Given the description of an element on the screen output the (x, y) to click on. 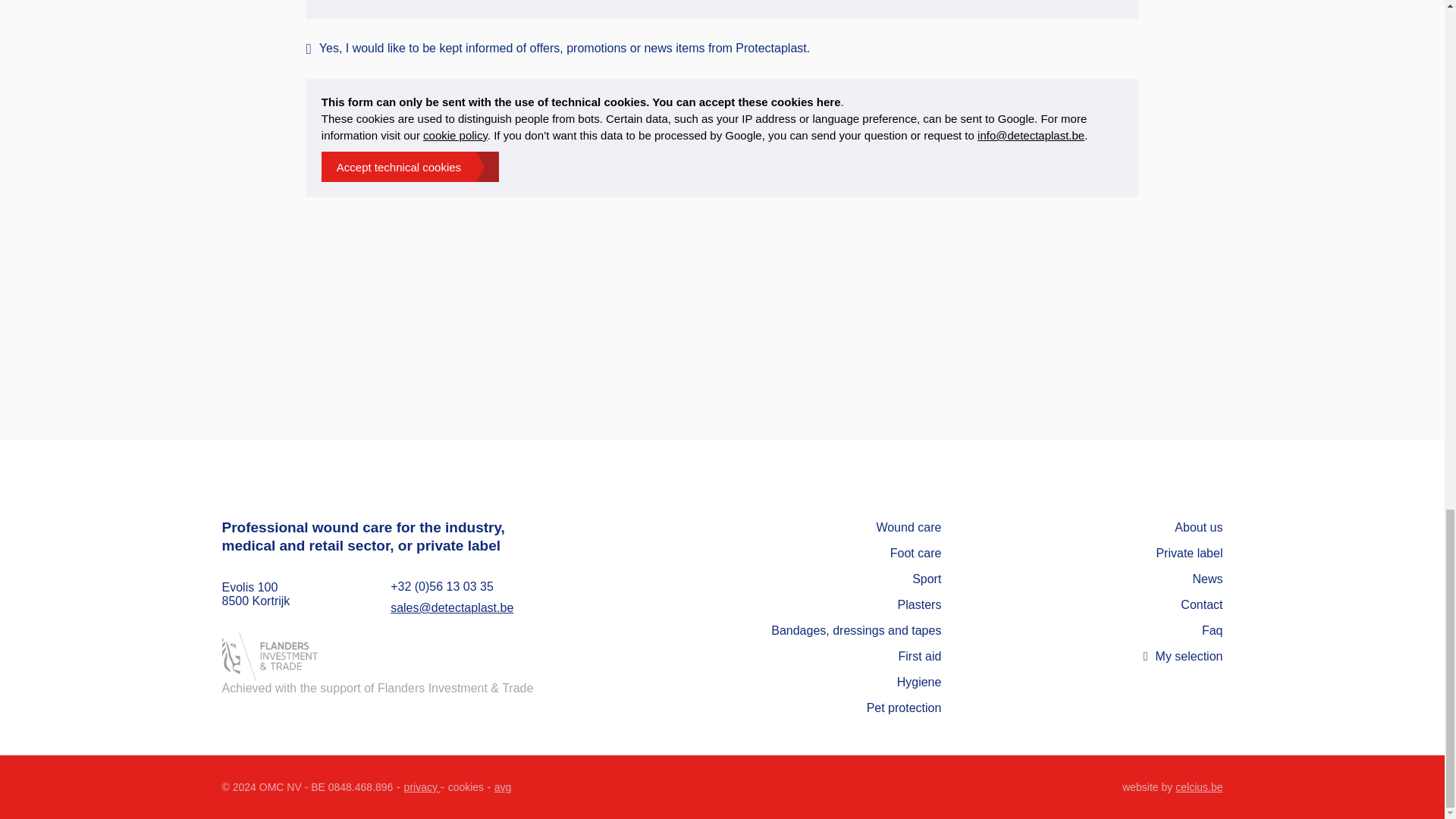
Faq (1212, 630)
Sport (926, 578)
Pet protection (904, 707)
Hygiene (919, 681)
accept these cookies here (769, 101)
cookie policy (455, 134)
About us (1198, 526)
privacy (422, 787)
Bandages, dressings and tapes (855, 630)
Accept technical cookies (410, 166)
